Given the description of an element on the screen output the (x, y) to click on. 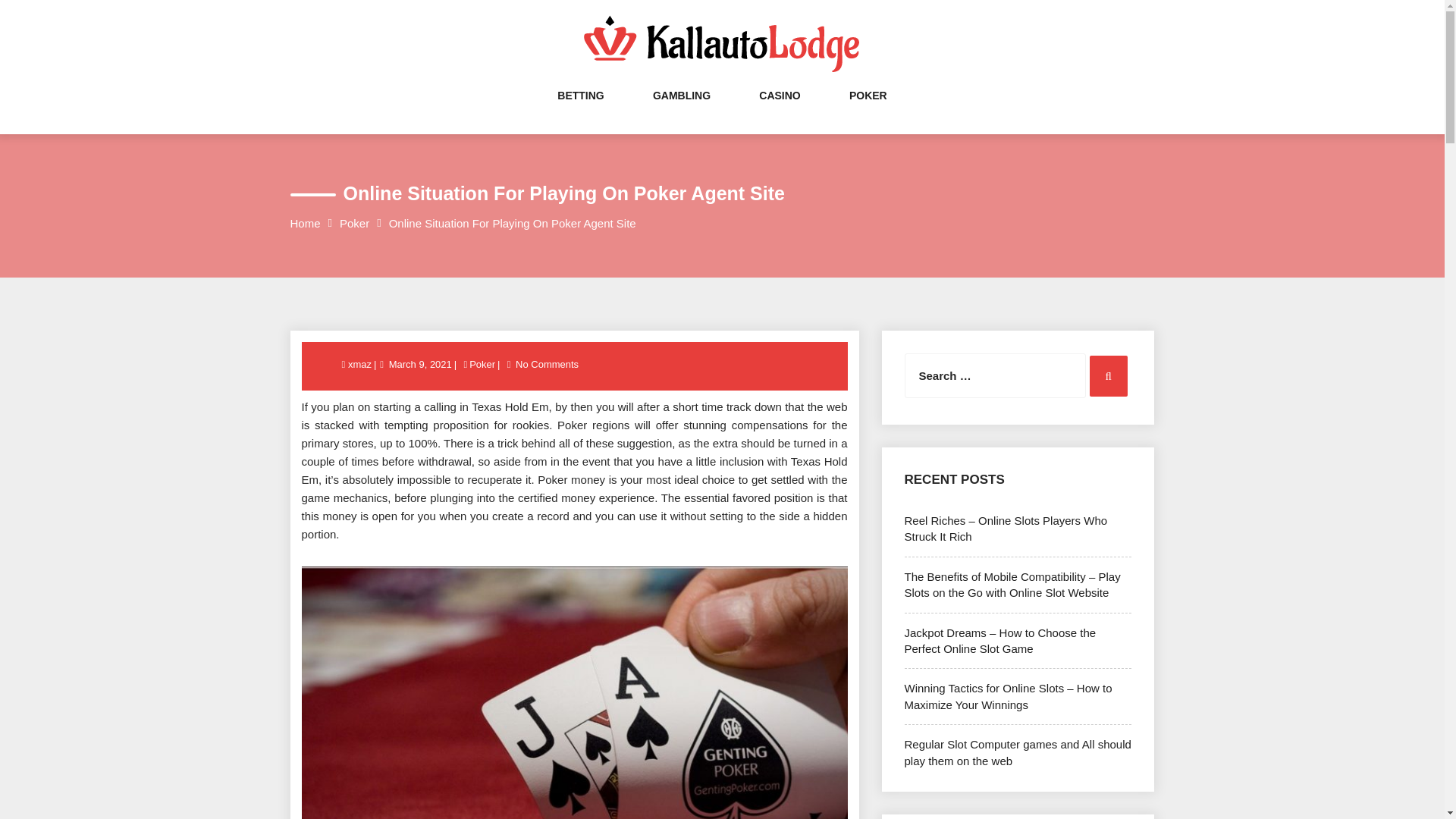
Poker (482, 364)
March 9, 2021 (420, 364)
Search (1107, 375)
xmaz (360, 364)
GAMBLING (681, 111)
Poker (354, 223)
CASINO (778, 111)
Home (304, 223)
BETTING (580, 111)
No Comments (546, 364)
